Given the description of an element on the screen output the (x, y) to click on. 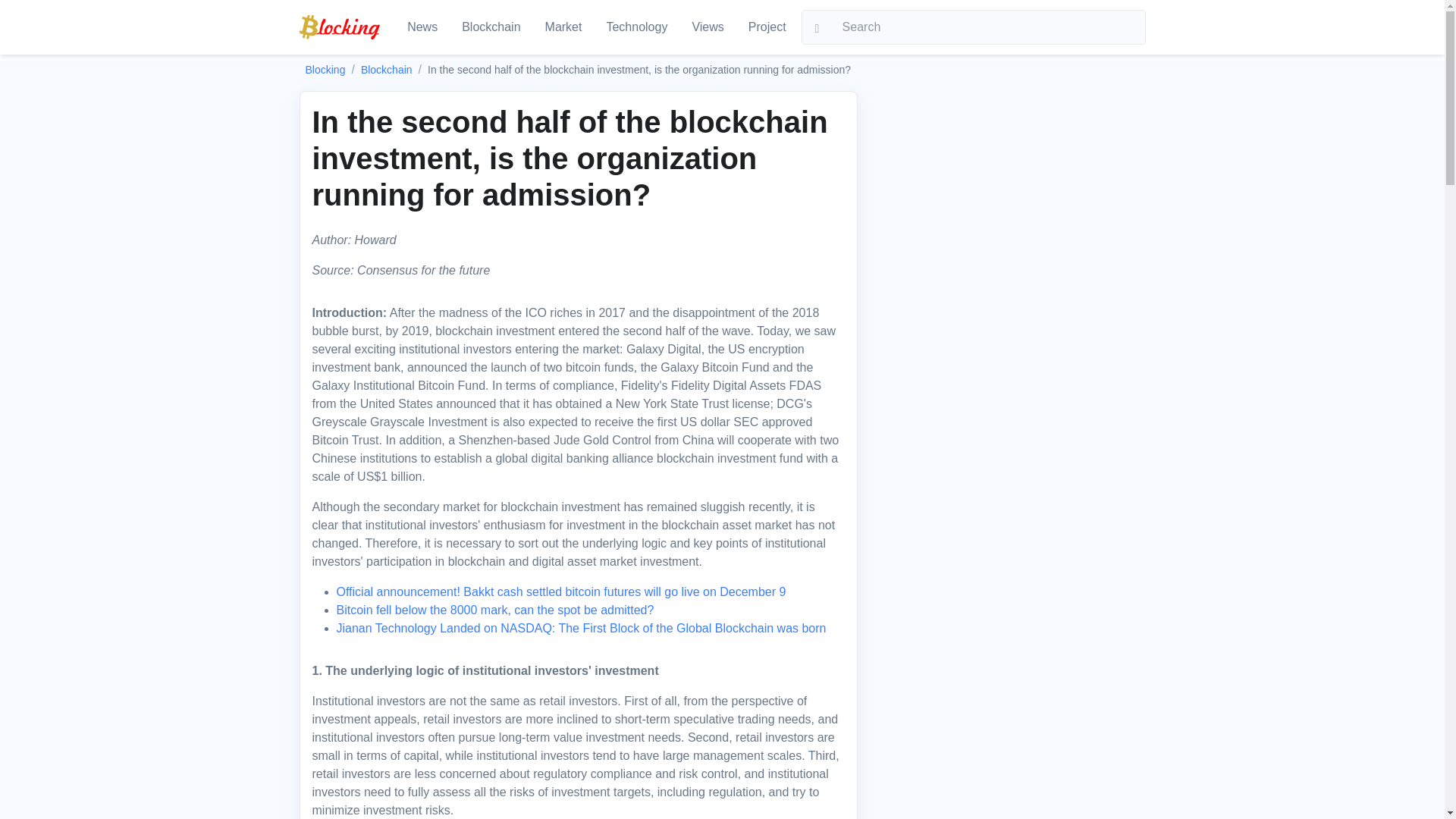
Technology (636, 26)
Blockchain (386, 69)
Blocking (324, 69)
Market (563, 26)
News (421, 26)
Bitcoin fell below the 8000 mark, can the spot be admitted? (494, 609)
Blockchain (490, 26)
Project (766, 26)
Views (707, 26)
